Given the description of an element on the screen output the (x, y) to click on. 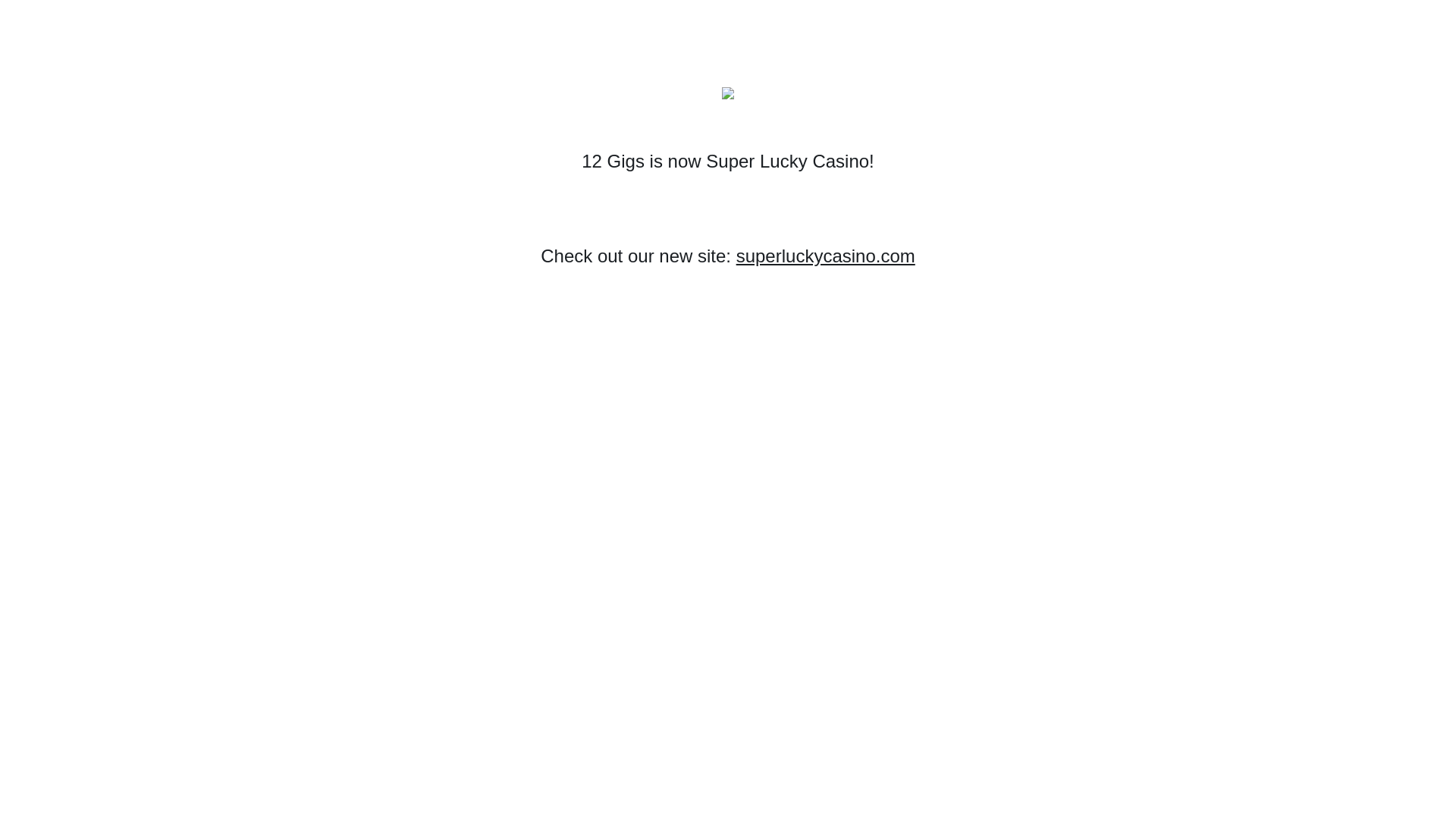
superluckycasino.com Element type: text (825, 255)
